Given the description of an element on the screen output the (x, y) to click on. 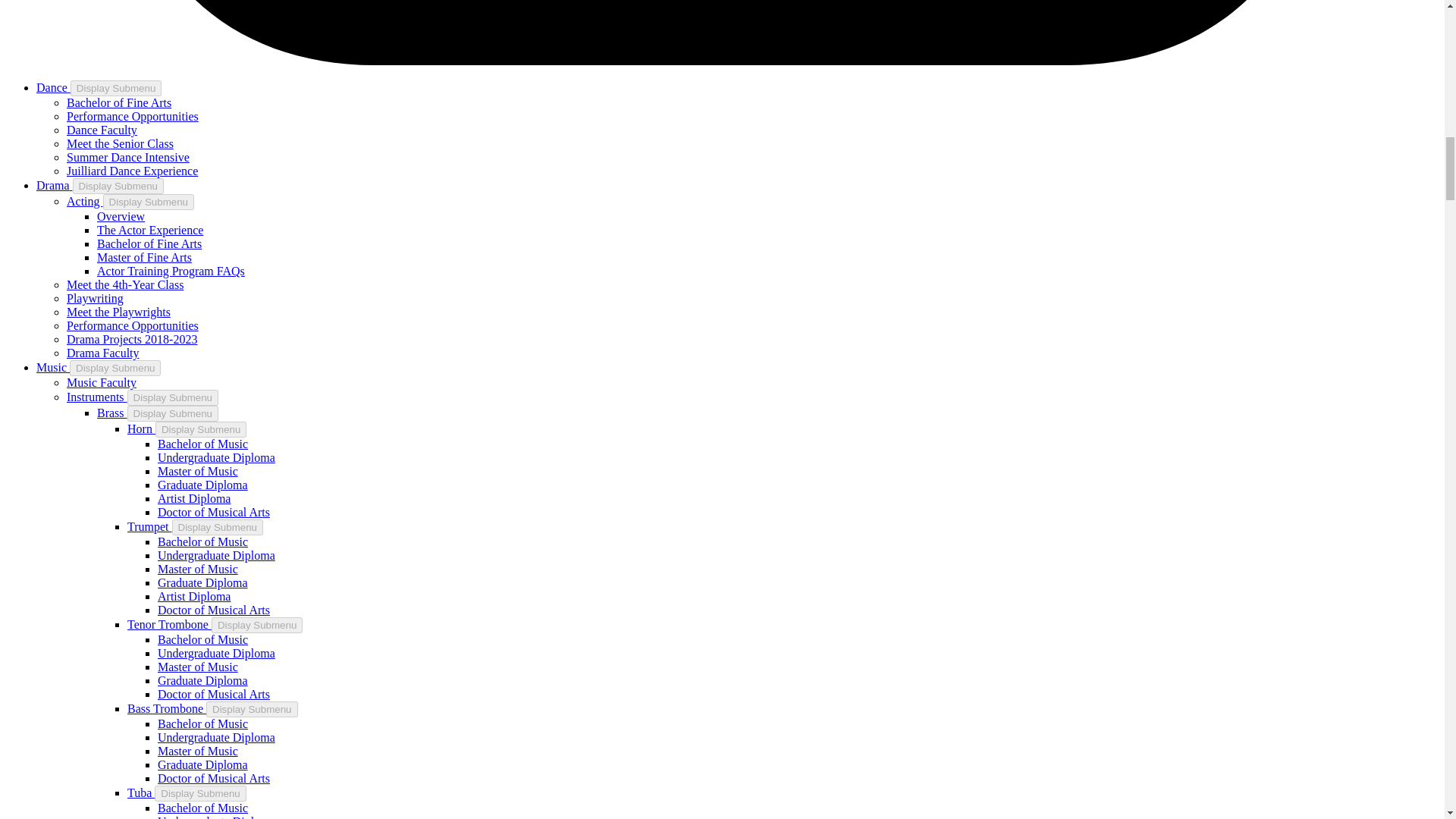
The Actor Experience (150, 229)
Display Submenu (115, 88)
Acting (84, 201)
Dance (52, 87)
Juilliard Dance Experience (132, 170)
Meet the 4th-Year Class (124, 284)
Master of Fine Arts (144, 256)
Drama Projects 2018-2023 (131, 338)
Display Submenu (148, 201)
Bachelor of Fine Arts (149, 243)
Actor Training Program FAQs (170, 270)
Summer Dance Intensive (127, 156)
Bachelor of Fine Arts (118, 102)
Meet the Playwrights (118, 311)
Drama (54, 185)
